Given the description of an element on the screen output the (x, y) to click on. 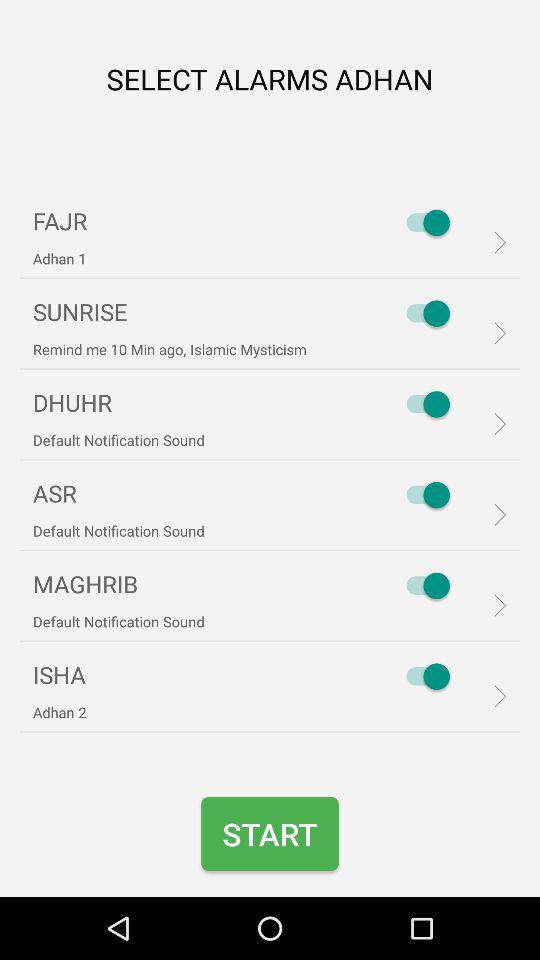
toggle alarm option (423, 222)
